Given the description of an element on the screen output the (x, y) to click on. 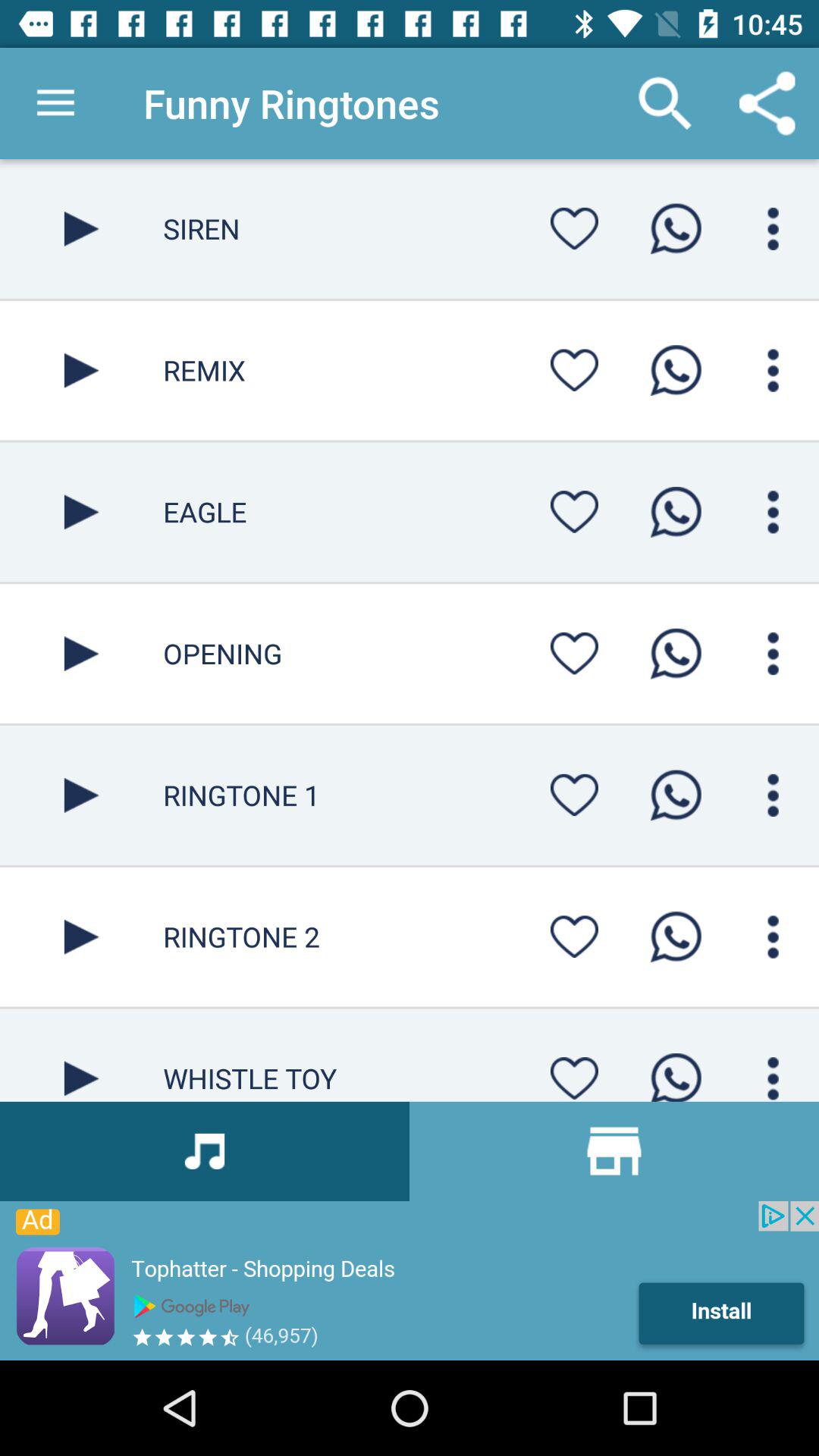
play audio or video (81, 653)
